Given the description of an element on the screen output the (x, y) to click on. 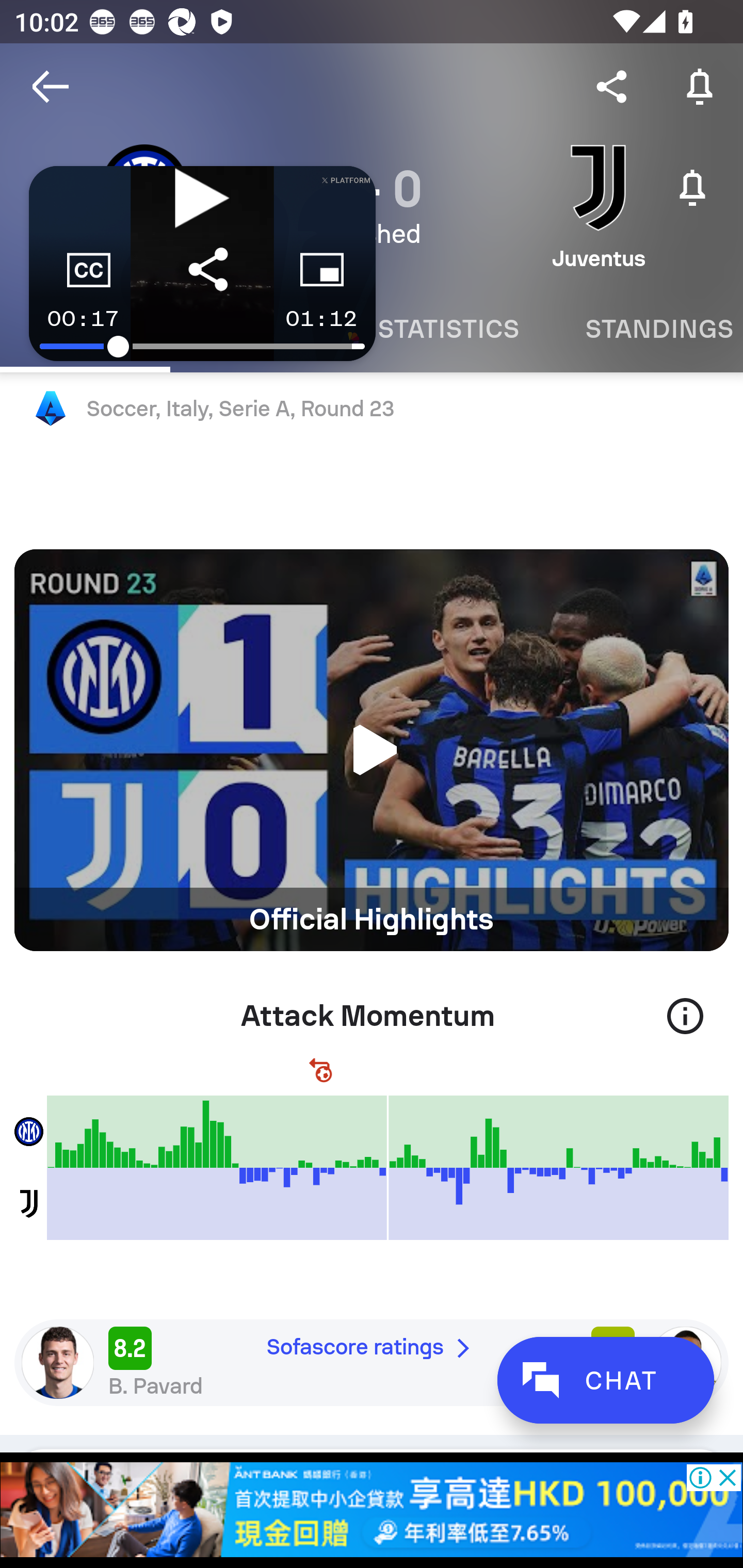
Navigate up (50, 86)
Statistics STATISTICS (448, 329)
Standings STANDINGS (647, 329)
Soccer, Italy, Serie A, Round 23 (371, 409)
8.2 Sofascore ratings 7.5 B. Pavard Bremer (371, 1362)
CHAT (605, 1380)
